Given the description of an element on the screen output the (x, y) to click on. 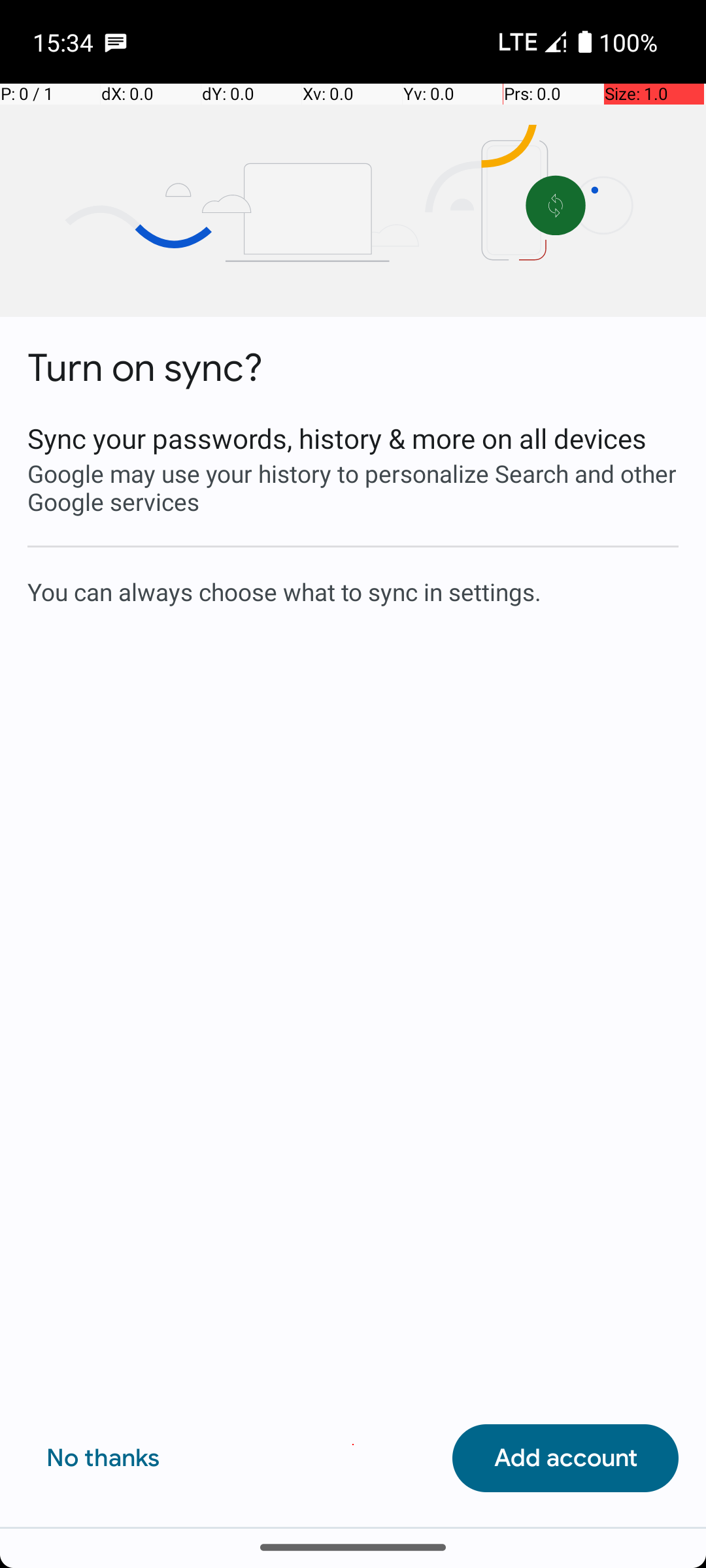
SMS Messenger notification: +15505050843 Element type: android.widget.ImageView (115, 41)
